Given the description of an element on the screen output the (x, y) to click on. 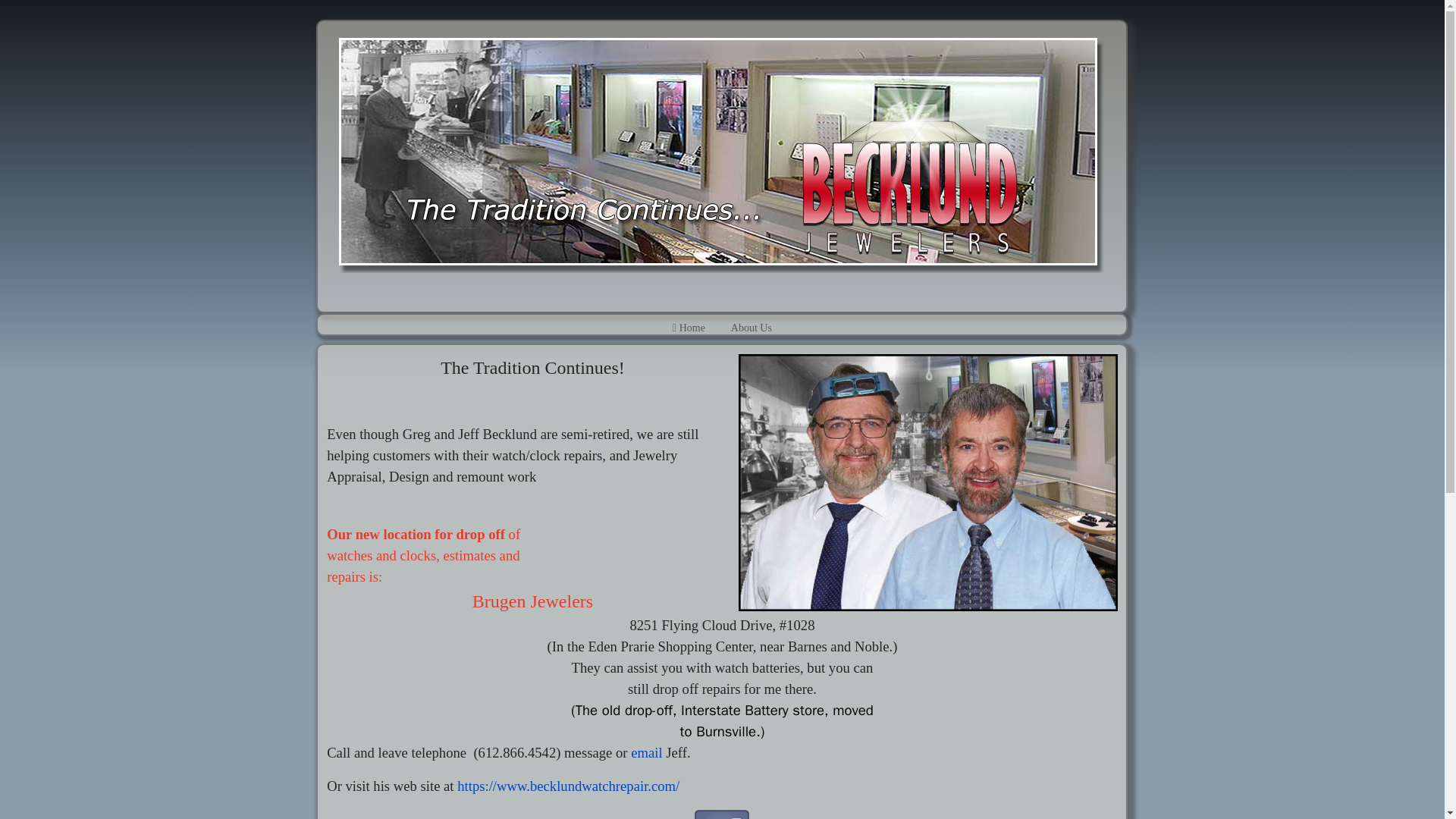
About Us (750, 332)
Home (688, 332)
email (646, 752)
